Given the description of an element on the screen output the (x, y) to click on. 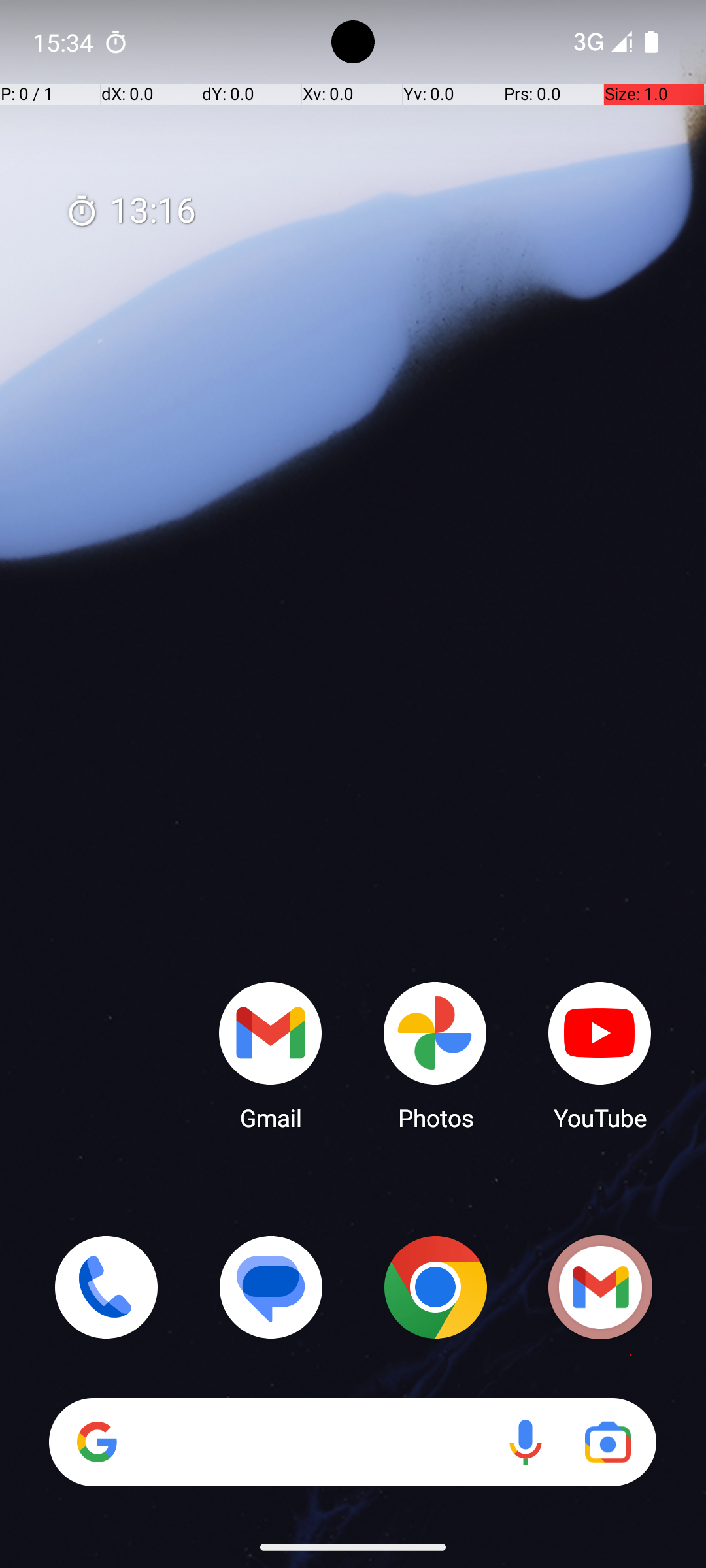
13:16 Element type: android.widget.TextView (130, 210)
